Given the description of an element on the screen output the (x, y) to click on. 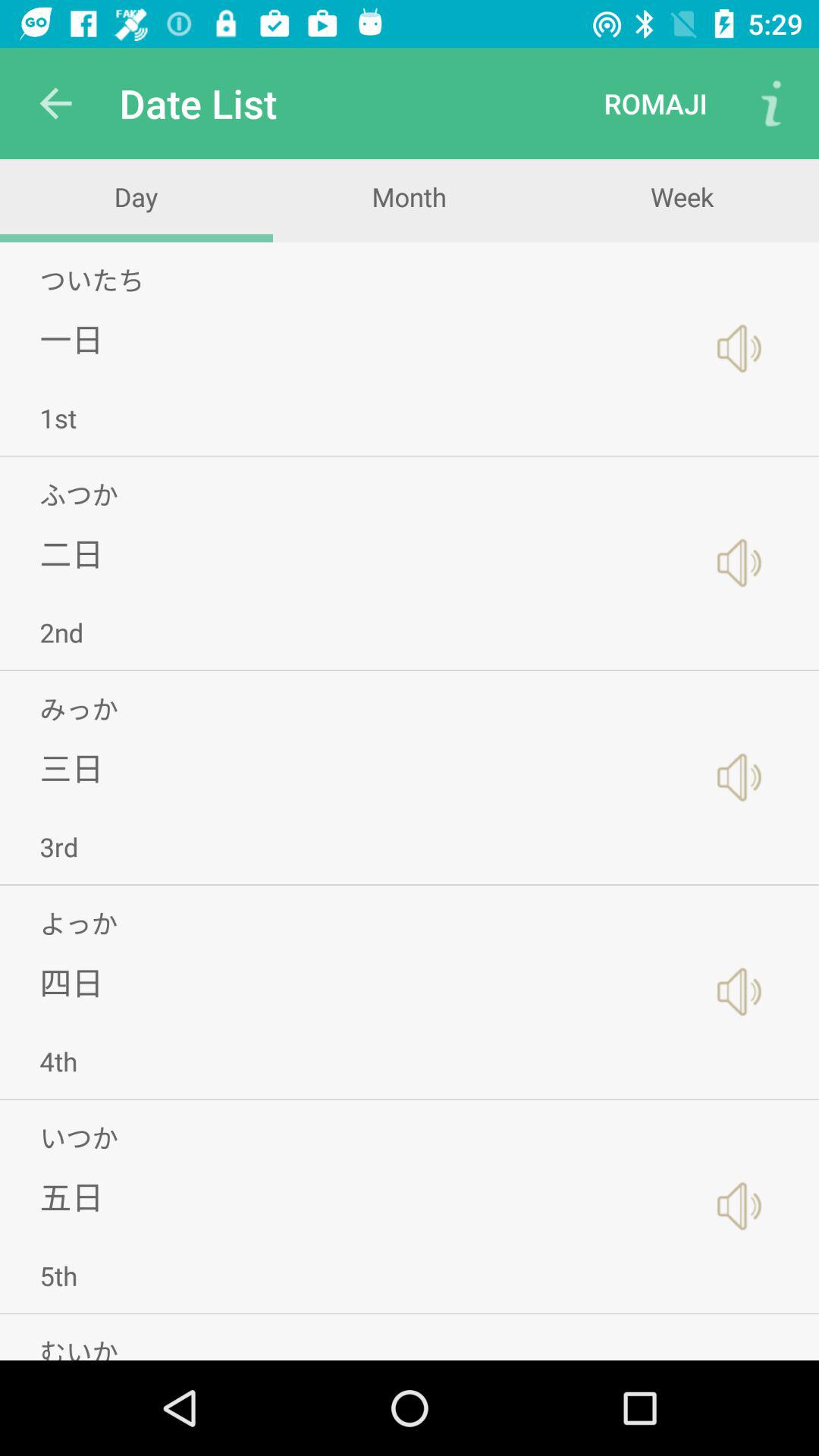
choose icon to the left of the date list icon (55, 103)
